Given the description of an element on the screen output the (x, y) to click on. 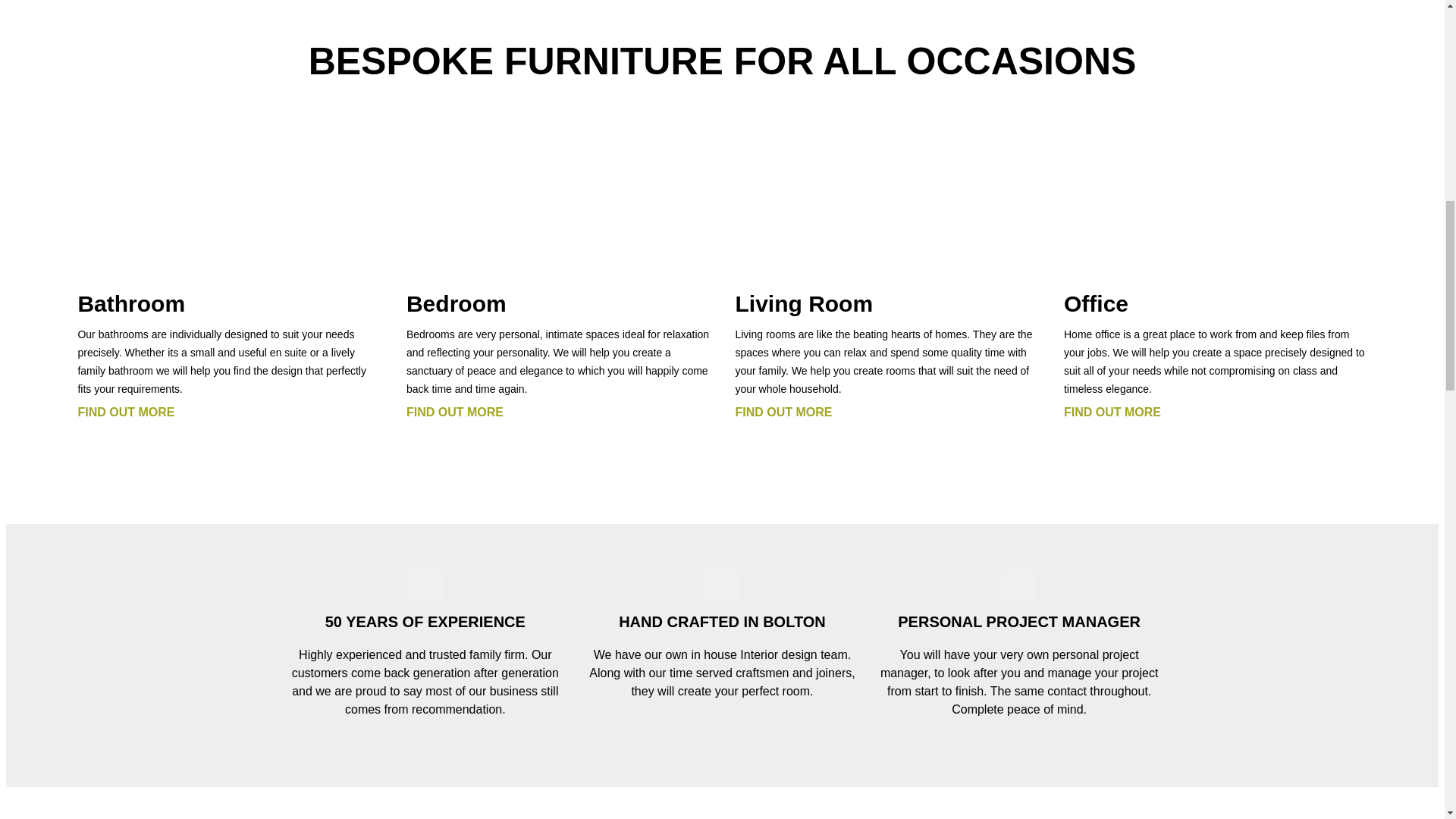
FIND OUT MORE (454, 411)
FIND OUT MORE (125, 411)
Living Room (803, 303)
Bedroom (456, 303)
FIND OUT MORE (783, 411)
Bathroom (130, 303)
